Given the description of an element on the screen output the (x, y) to click on. 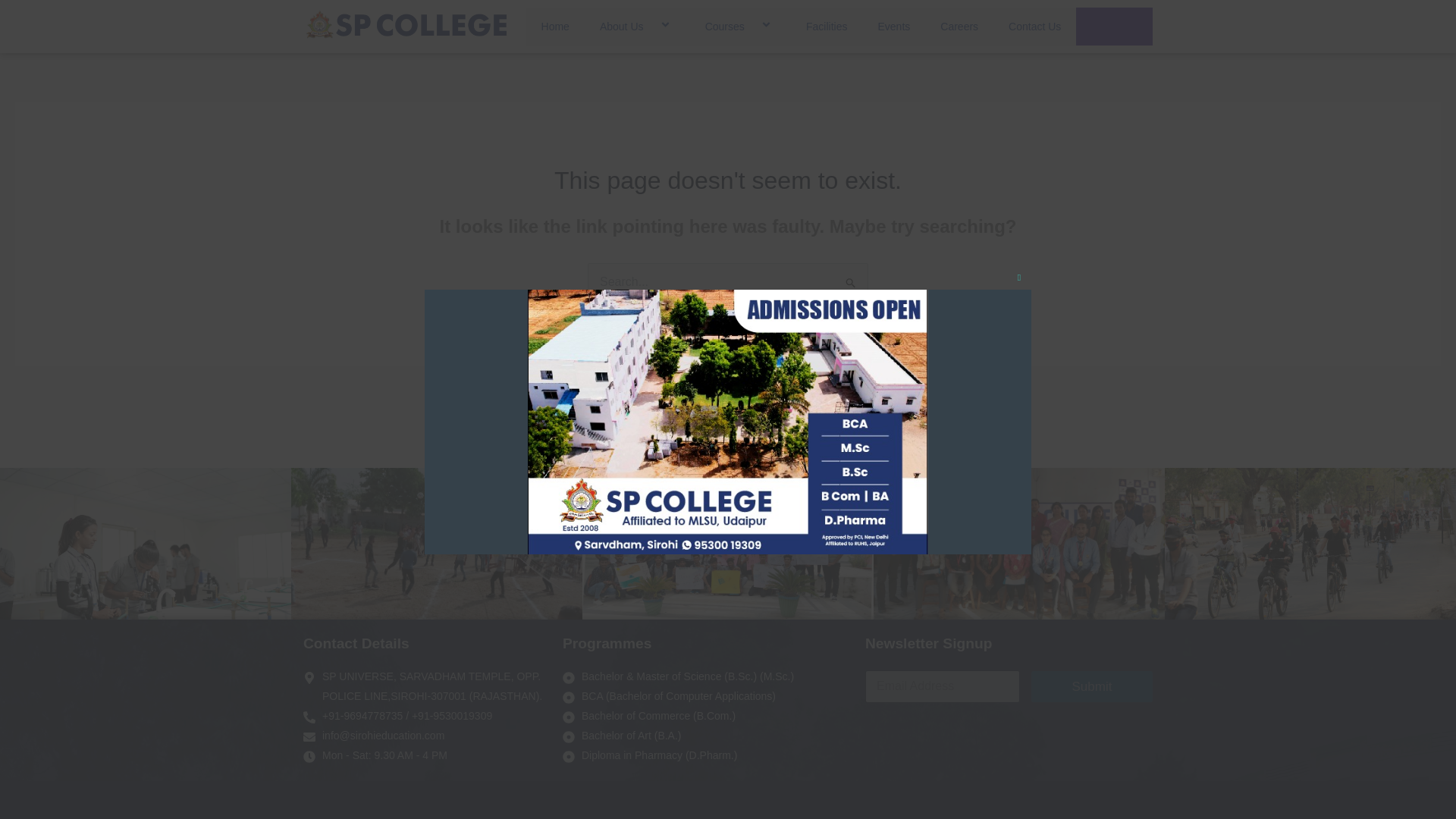
Events (892, 26)
Submit (1091, 685)
Close this module (1018, 243)
Home (555, 26)
About Us (637, 26)
Careers (958, 26)
Courses (740, 26)
Contact Us (1033, 26)
Facilities (825, 26)
